Given the description of an element on the screen output the (x, y) to click on. 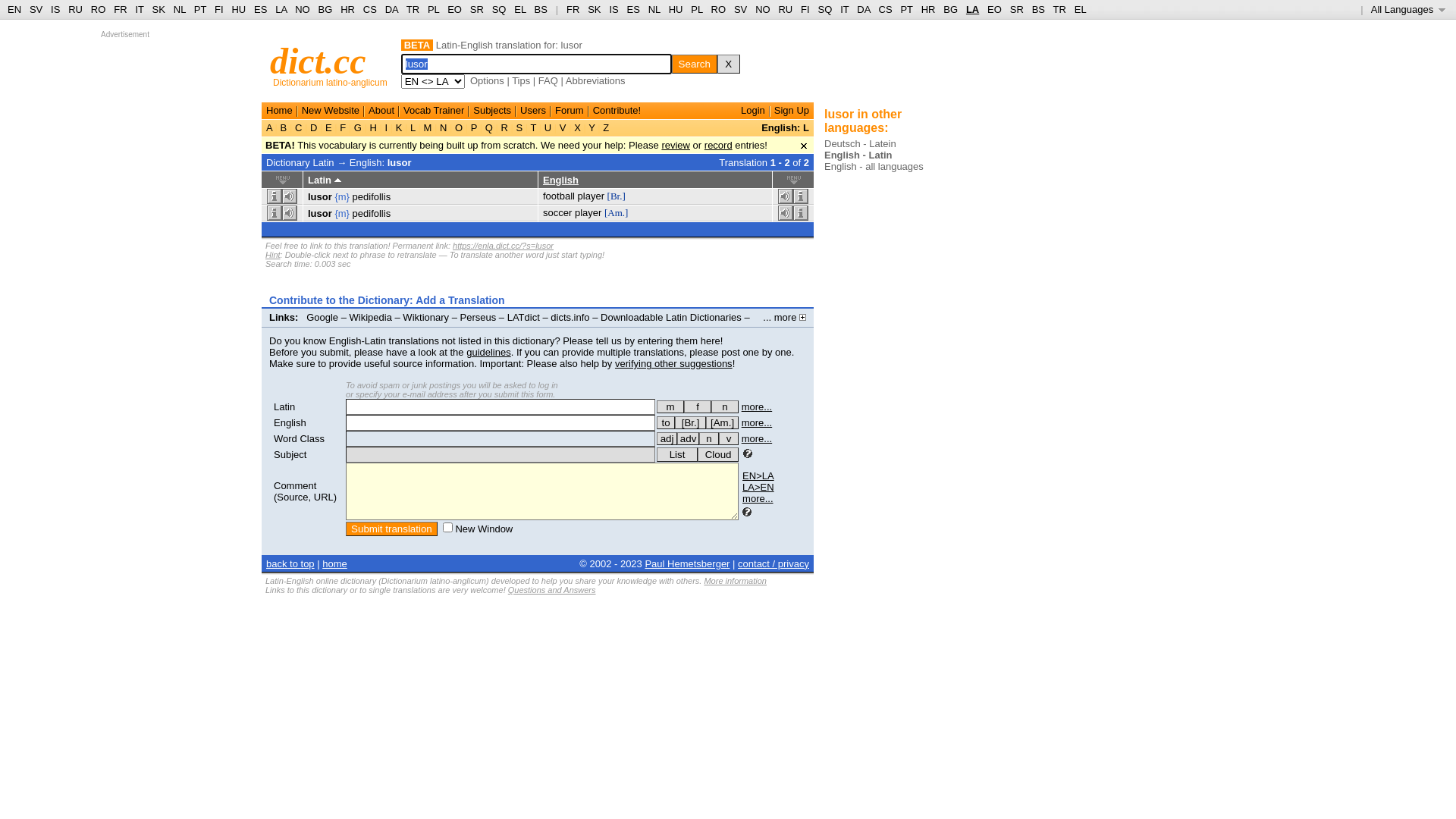
Perseus Element type: text (478, 317)
English: L Element type: text (785, 127)
SQ Element type: text (824, 9)
Contribute to the Dictionary: Add a Translation Element type: text (387, 300)
About Element type: text (381, 110)
New Website Element type: text (330, 110)
Z Element type: text (605, 127)
LATdict Element type: text (523, 317)
E Element type: text (328, 127)
Users Element type: text (533, 110)
LA Element type: text (280, 9)
pedifollis Element type: text (371, 196)
[Br.] Element type: text (690, 422)
Home Element type: text (279, 110)
SR Element type: text (1016, 9)
SQ Element type: text (499, 9)
IS Element type: text (54, 9)
Options Element type: text (487, 80)
v Element type: text (728, 438)
O Element type: text (457, 127)
more... Element type: text (757, 498)
EL Element type: text (1080, 9)
FAQ Element type: text (548, 80)
Wikipedia Element type: text (370, 317)
HR Element type: text (347, 9)
lusor Element type: text (319, 196)
More information Element type: text (734, 580)
neutrum Element type: hover (724, 406)
Latin Element type: text (283, 406)
HR Element type: text (928, 9)
I Element type: text (386, 127)
adj Element type: text (666, 438)
to Element type: text (665, 422)
for verbs Element type: hover (665, 422)
RO Element type: text (98, 9)
English - all languages Element type: text (873, 166)
BS Element type: text (1038, 9)
Questions and Answers Element type: text (552, 589)
review Element type: text (675, 144)
CS Element type: text (884, 9)
SK Element type: text (158, 9)
BG Element type: text (950, 9)
Hint Element type: text (272, 254)
EO Element type: text (994, 9)
n Element type: text (724, 406)
more... Element type: text (756, 422)
T Element type: text (533, 127)
BG Element type: text (325, 9)
FR Element type: text (572, 9)
[Br.] Element type: text (616, 195)
Cloud Element type: text (717, 454)
V Element type: text (562, 127)
HU Element type: text (238, 9)
NL Element type: text (179, 9)
pedifollis Element type: text (371, 213)
contact / privacy Element type: text (773, 563)
P Element type: text (473, 127)
M Element type: text (427, 127)
more... Element type: text (756, 438)
soccer Element type: text (556, 212)
https://enla.dict.cc/?s=lusor Element type: text (502, 245)
Wiktionary Element type: text (425, 317)
home Element type: text (334, 563)
Q Element type: text (488, 127)
PL Element type: text (696, 9)
EN Element type: text (14, 9)
Login Element type: text (752, 110)
Abbreviations Element type: text (595, 80)
dict.cc Element type: text (317, 60)
A Element type: text (270, 127)
SK Element type: text (593, 9)
EO Element type: text (454, 9)
FR Element type: text (119, 9)
Contribute! Element type: text (617, 110)
TR Element type: text (412, 9)
player Element type: text (590, 195)
NO Element type: text (302, 9)
R Element type: text (504, 127)
Forum Element type: text (569, 110)
ES Element type: text (633, 9)
IT Element type: text (138, 9)
SV Element type: text (35, 9)
ES Element type: text (260, 9)
adv Element type: text (688, 438)
lusor Element type: text (319, 213)
TR Element type: text (1059, 9)
RU Element type: text (785, 9)
more... Element type: text (756, 406)
HU Element type: text (675, 9)
C Element type: text (297, 127)
Submit translation Element type: text (391, 528)
femininum Element type: hover (697, 406)
... more Element type: text (784, 317)
[Am.] Element type: text (722, 422)
(esp.) British English Element type: hover (690, 422)
EL Element type: text (519, 9)
Deutsch - Latein Element type: text (860, 143)
lusor Element type: text (399, 161)
player Element type: text (587, 212)
IT Element type: text (844, 9)
PL Element type: text (433, 9)
L Element type: text (412, 127)
masculinum Element type: hover (670, 406)
DA Element type: text (391, 9)
n Element type: text (708, 438)
Search Element type: text (694, 63)
G Element type: text (357, 127)
LA>EN Element type: text (758, 486)
FI Element type: text (218, 9)
Subjects Element type: text (492, 110)
All Languages  Element type: text (1408, 9)
LA Element type: text (972, 9)
IS Element type: text (613, 9)
RO Element type: text (718, 9)
List Element type: text (676, 454)
RU Element type: text (75, 9)
(esp.) American English Element type: hover (722, 422)
FI Element type: text (804, 9)
back to top Element type: text (290, 563)
guidelines Element type: text (488, 351)
Google Element type: text (322, 317)
NO Element type: text (762, 9)
record Element type: text (718, 144)
U Element type: text (547, 127)
m Element type: text (670, 406)
H Element type: text (373, 127)
English Element type: text (289, 422)
SR Element type: text (476, 9)
Downloadable Latin Dictionaries Element type: text (670, 317)
PT Element type: text (200, 9)
Sign Up Element type: text (791, 110)
BS Element type: text (540, 9)
PT Element type: text (906, 9)
Vocab Trainer Element type: text (433, 110)
B Element type: text (283, 127)
D Element type: text (313, 127)
CS Element type: text (369, 9)
Tips Element type: text (520, 80)
Paul Hemetsberger Element type: text (686, 563)
English - Latin Element type: text (858, 154)
K Element type: text (398, 127)
f Element type: text (697, 406)
NL Element type: text (654, 9)
Choose image ... Element type: text (884, 60)
football Element type: text (558, 195)
Customize Links Element type: text (308, 328)
DA Element type: text (862, 9)
Y Element type: text (591, 127)
X Element type: text (577, 127)
dicts.info Element type: text (569, 317)
SV Element type: text (740, 9)
verifying other suggestions Element type: text (673, 363)
N Element type: text (442, 127)
[Am.] Element type: text (615, 212)
S Element type: text (519, 127)
Dictionary Element type: text (288, 161)
F Element type: text (342, 127)
English Element type: text (560, 179)
X Element type: text (728, 63)
EN>LA Element type: text (758, 475)
